Given the description of an element on the screen output the (x, y) to click on. 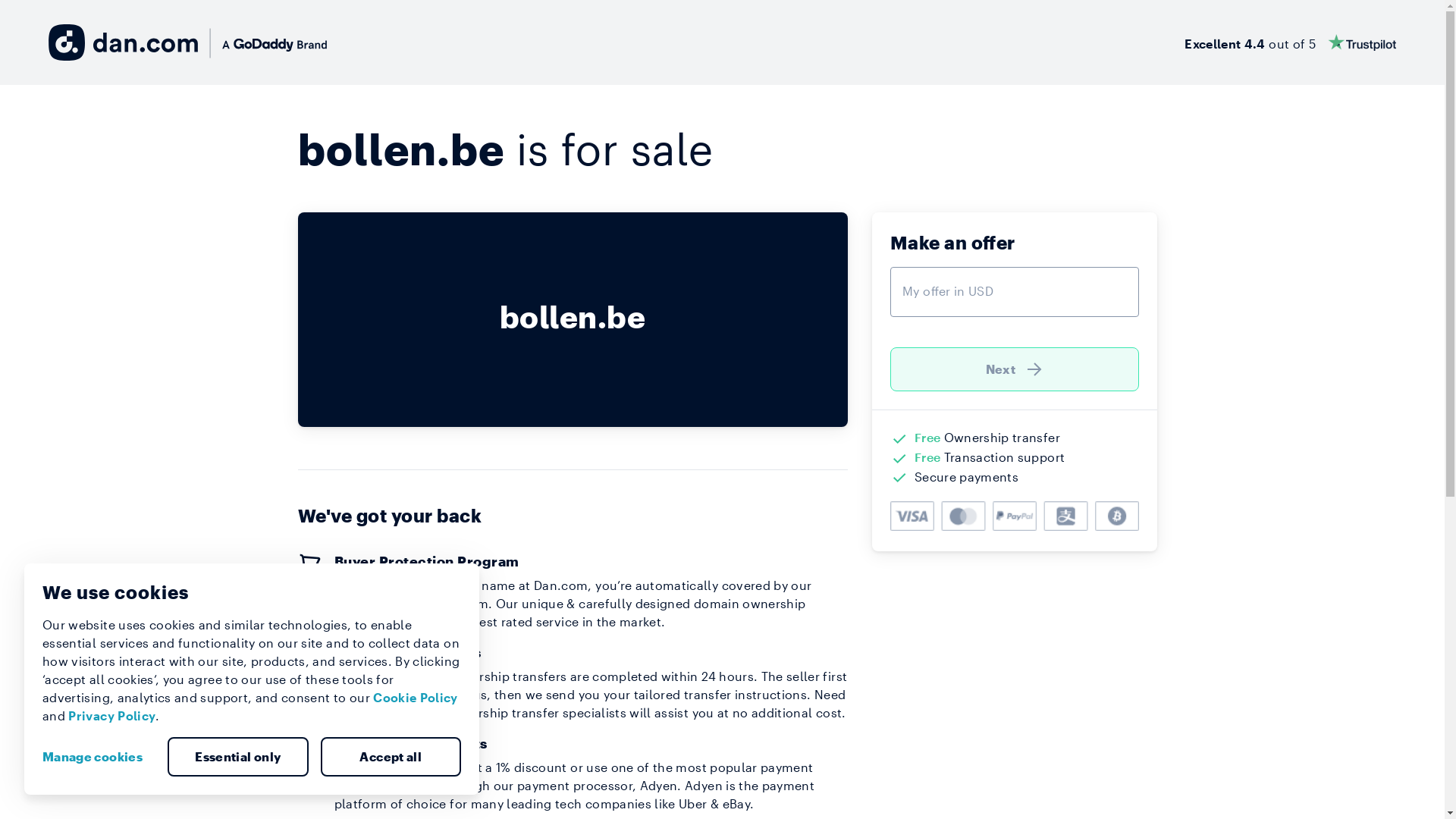
Privacy Policy Element type: text (111, 715)
Cookie Policy Element type: text (415, 697)
Accept all Element type: text (390, 756)
Manage cookies Element type: text (98, 756)
Essential only Element type: text (237, 756)
Excellent 4.4 out of 5 Element type: text (1290, 42)
Next
) Element type: text (1014, 369)
